Given the description of an element on the screen output the (x, y) to click on. 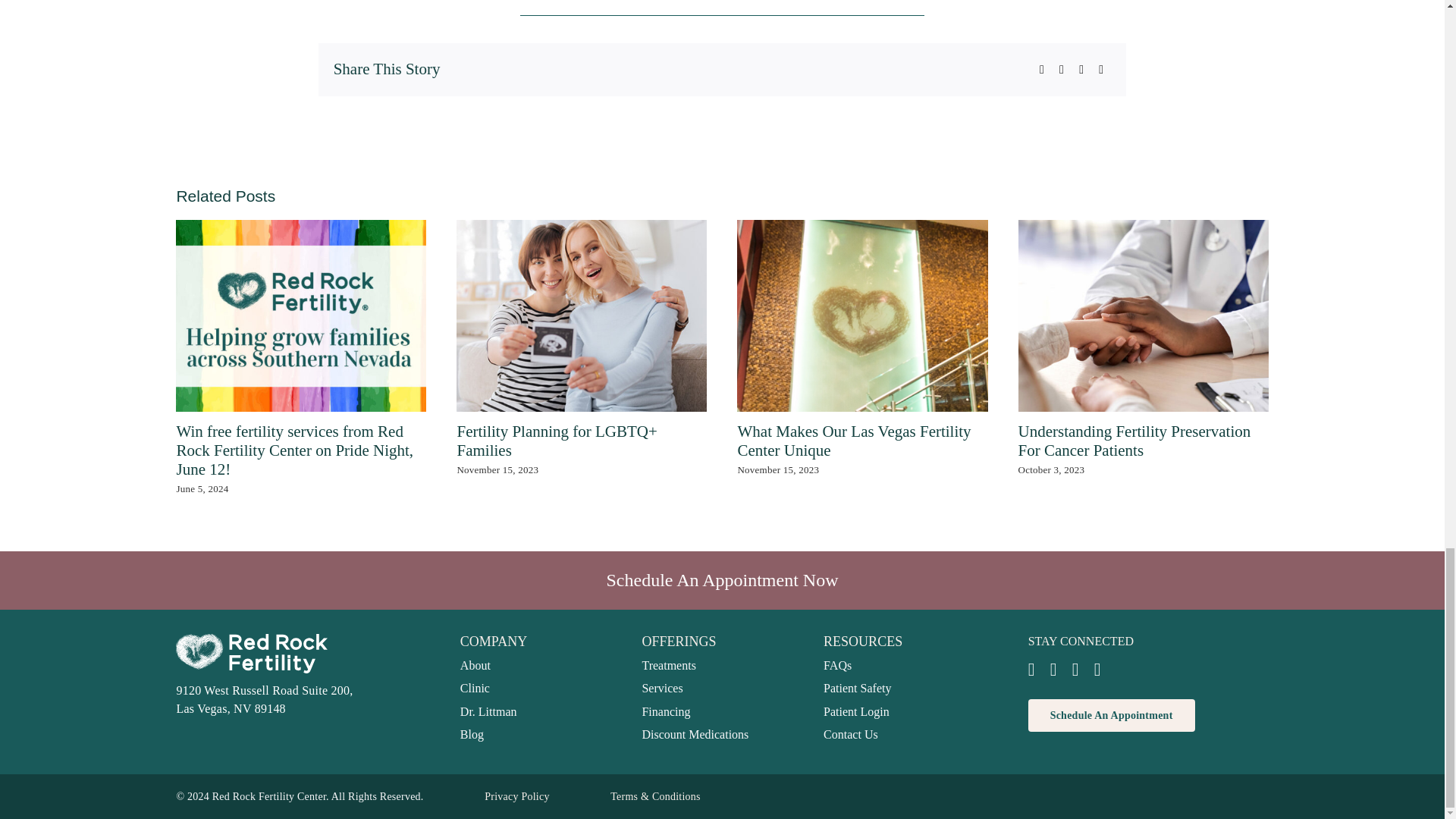
Facebook (1041, 69)
Understanding Fertility Preservation For Cancer Patients (1133, 440)
X (1061, 69)
LinkedIn (1080, 69)
What Makes Our Las Vegas Fertility Center Unique (853, 440)
Email (1100, 69)
